Given the description of an element on the screen output the (x, y) to click on. 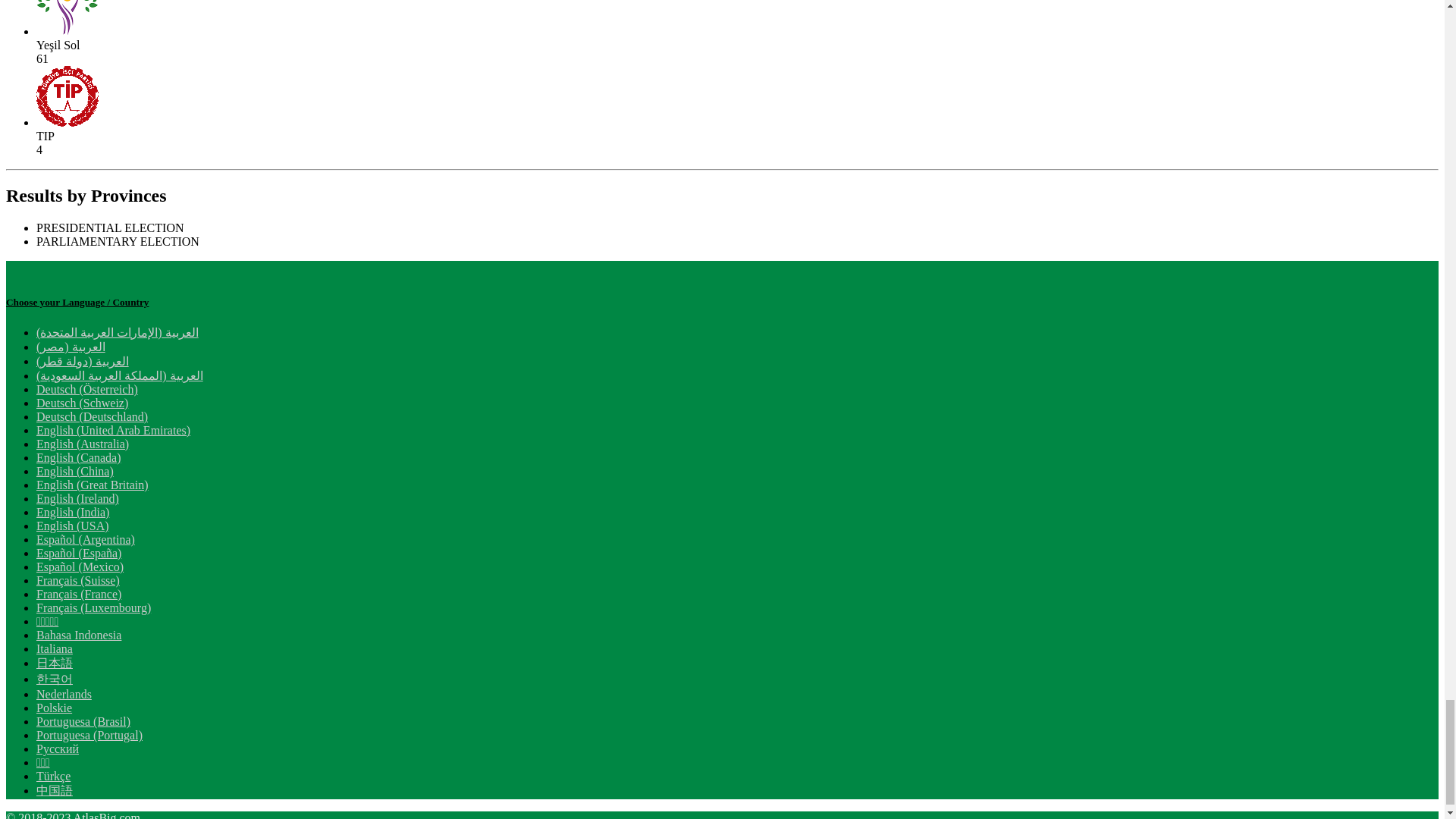
PARLIAMENTARY ELECTION (117, 241)
Italiana (54, 648)
Polskie (53, 707)
PRESIDENTIAL ELECTION (110, 227)
Bahasa Indonesia (78, 634)
Nederlands (63, 694)
